Given the description of an element on the screen output the (x, y) to click on. 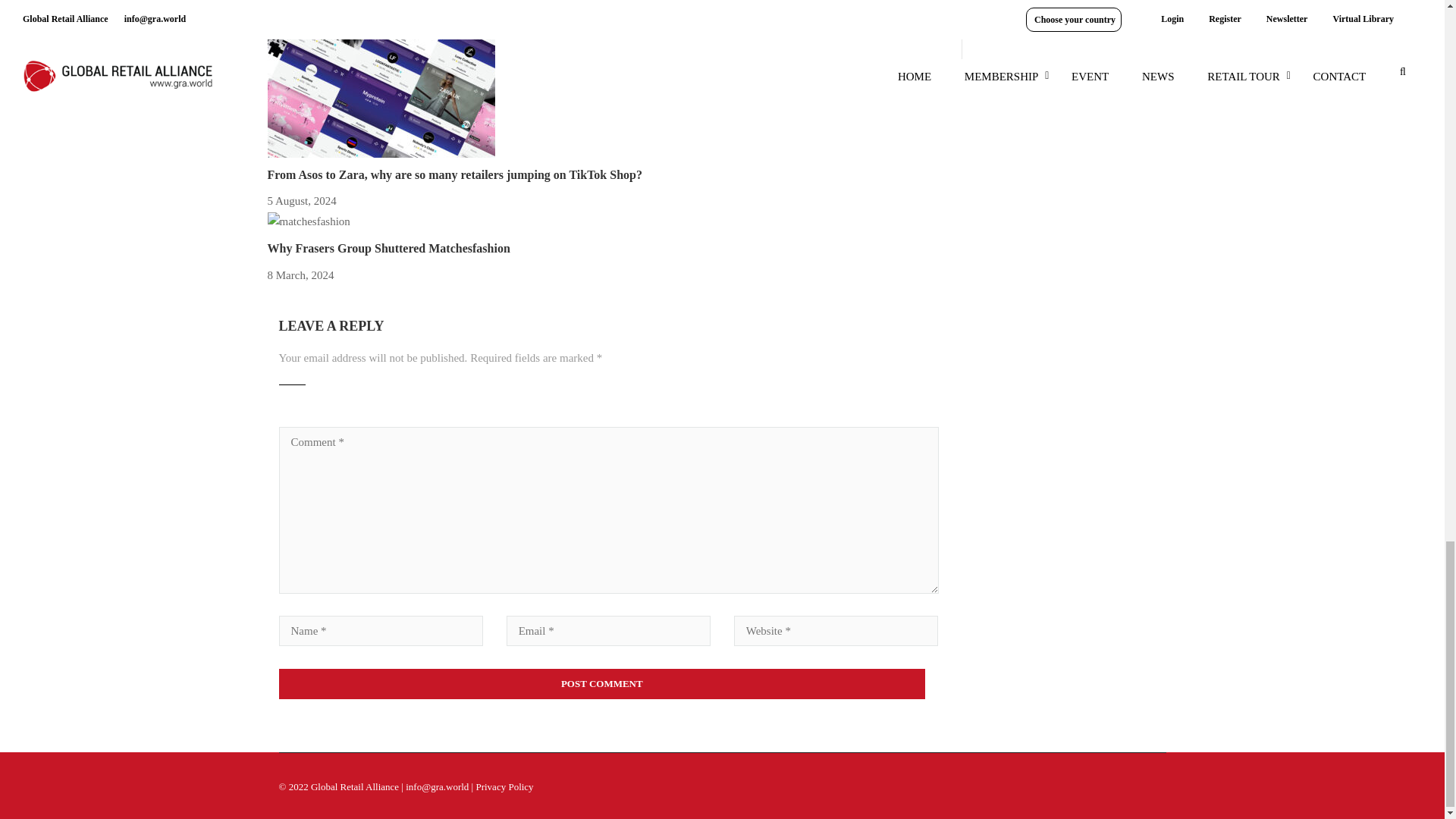
matchesfashion (307, 221)
Post Comment (602, 684)
Why Frasers Group Shuttered Matchesfashion (387, 247)
tiktok-commerce (380, 81)
